Given the description of an element on the screen output the (x, y) to click on. 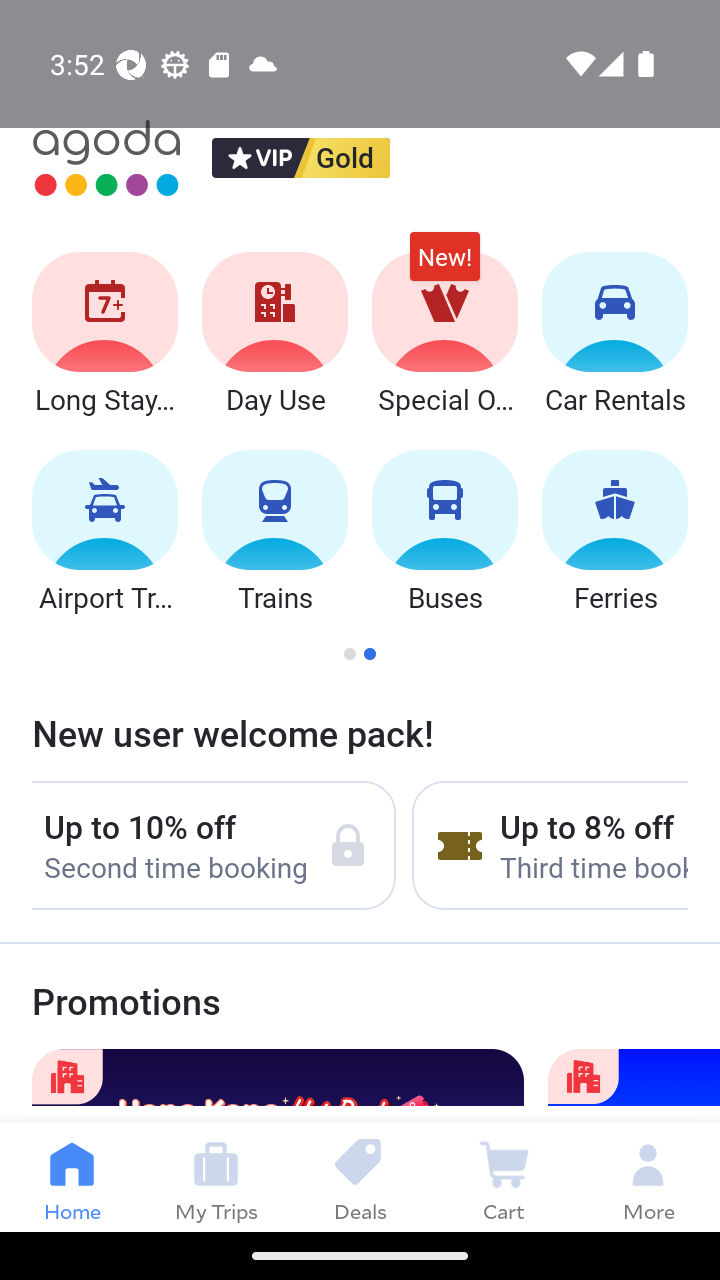
New! (444, 265)
Home (72, 1176)
My Trips (216, 1176)
Deals (360, 1176)
Cart (504, 1176)
More (648, 1176)
